Given the description of an element on the screen output the (x, y) to click on. 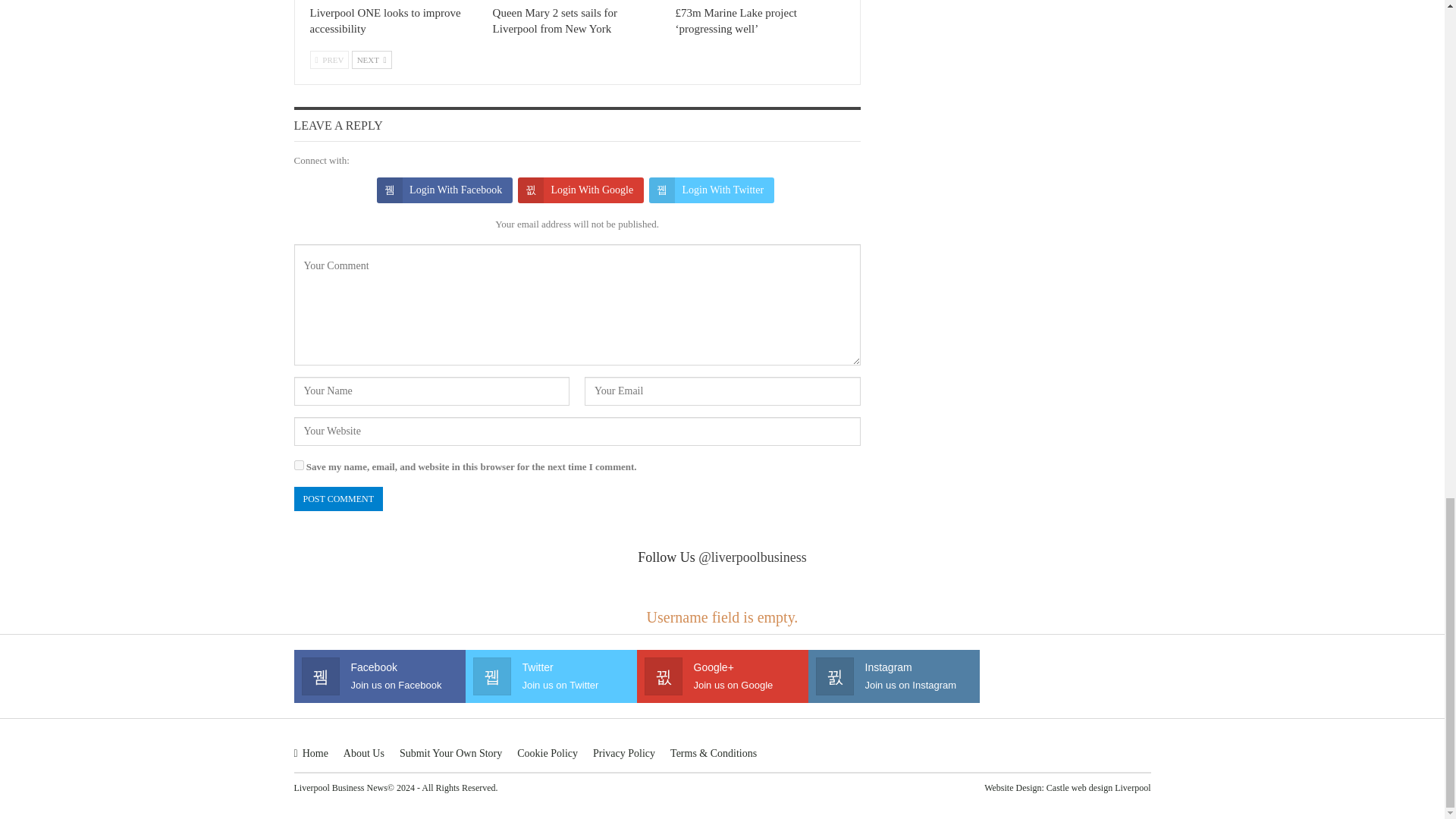
Post Comment (338, 498)
Previous (328, 59)
Next (371, 59)
yes (299, 465)
